Given the description of an element on the screen output the (x, y) to click on. 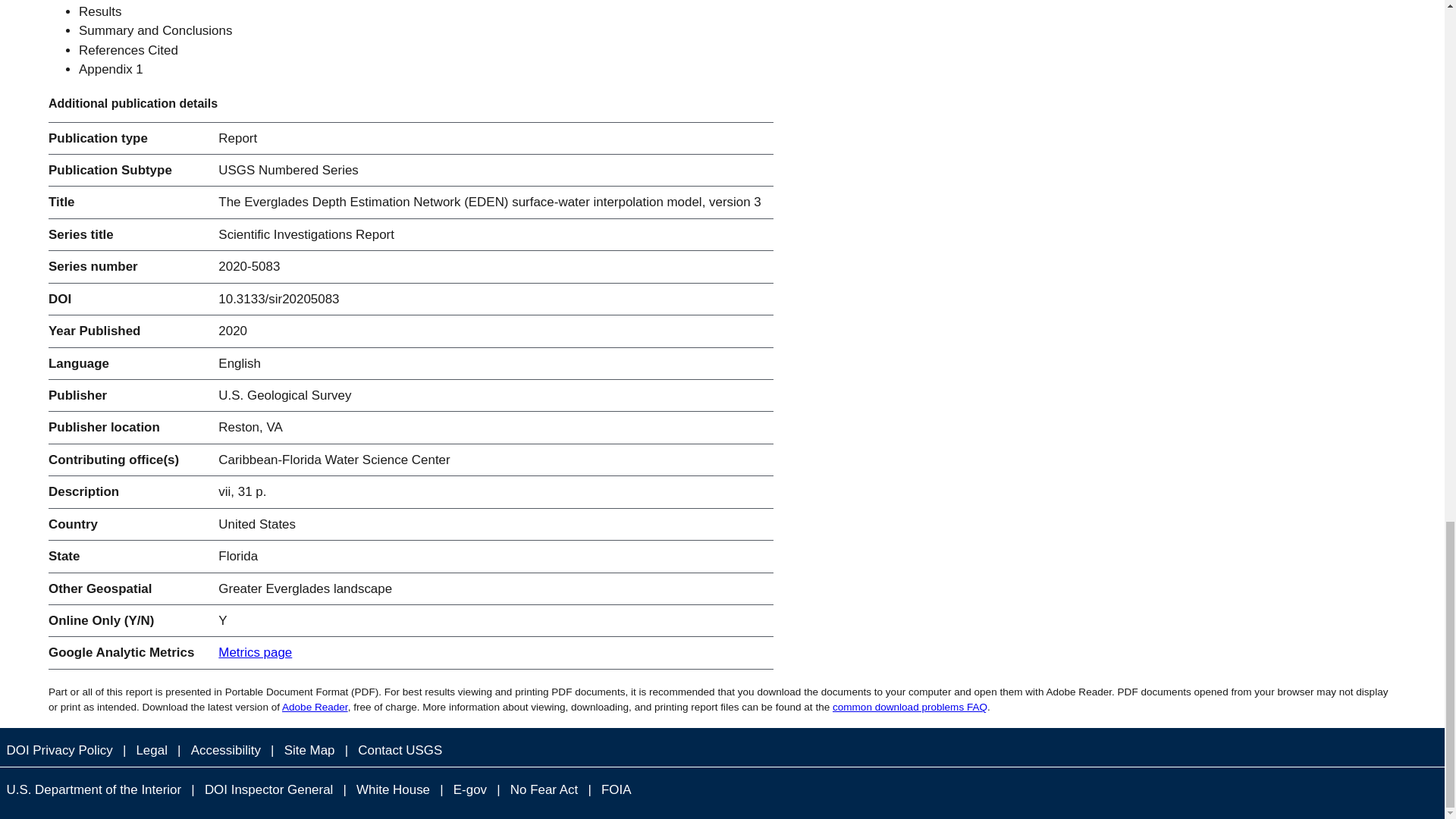
FOIA (616, 789)
Legal (151, 750)
White House (393, 789)
E-gov (469, 789)
Accessibility (225, 750)
Contact USGS (400, 750)
U.S. Department of the Interior (93, 789)
common download problems FAQ (909, 706)
Metrics page (255, 652)
Site Map (309, 750)
DOI Privacy Policy (59, 750)
DOI Inspector General (268, 789)
Adobe Reader (314, 706)
No Fear Act (543, 789)
